Given the description of an element on the screen output the (x, y) to click on. 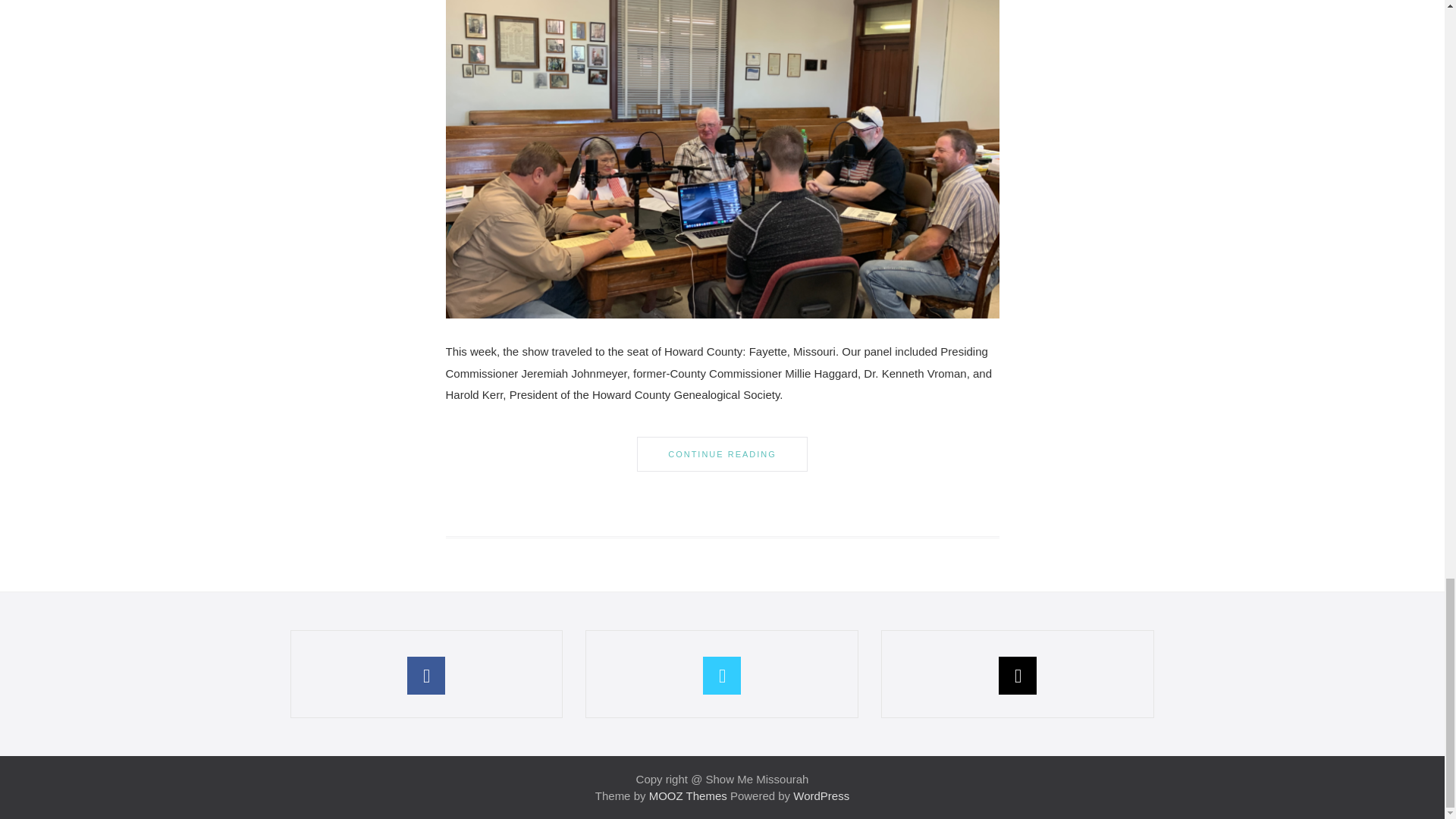
CONTINUE READING (722, 454)
WordPress (820, 795)
MOOZ Themes (687, 795)
Howard County (721, 133)
